Given the description of an element on the screen output the (x, y) to click on. 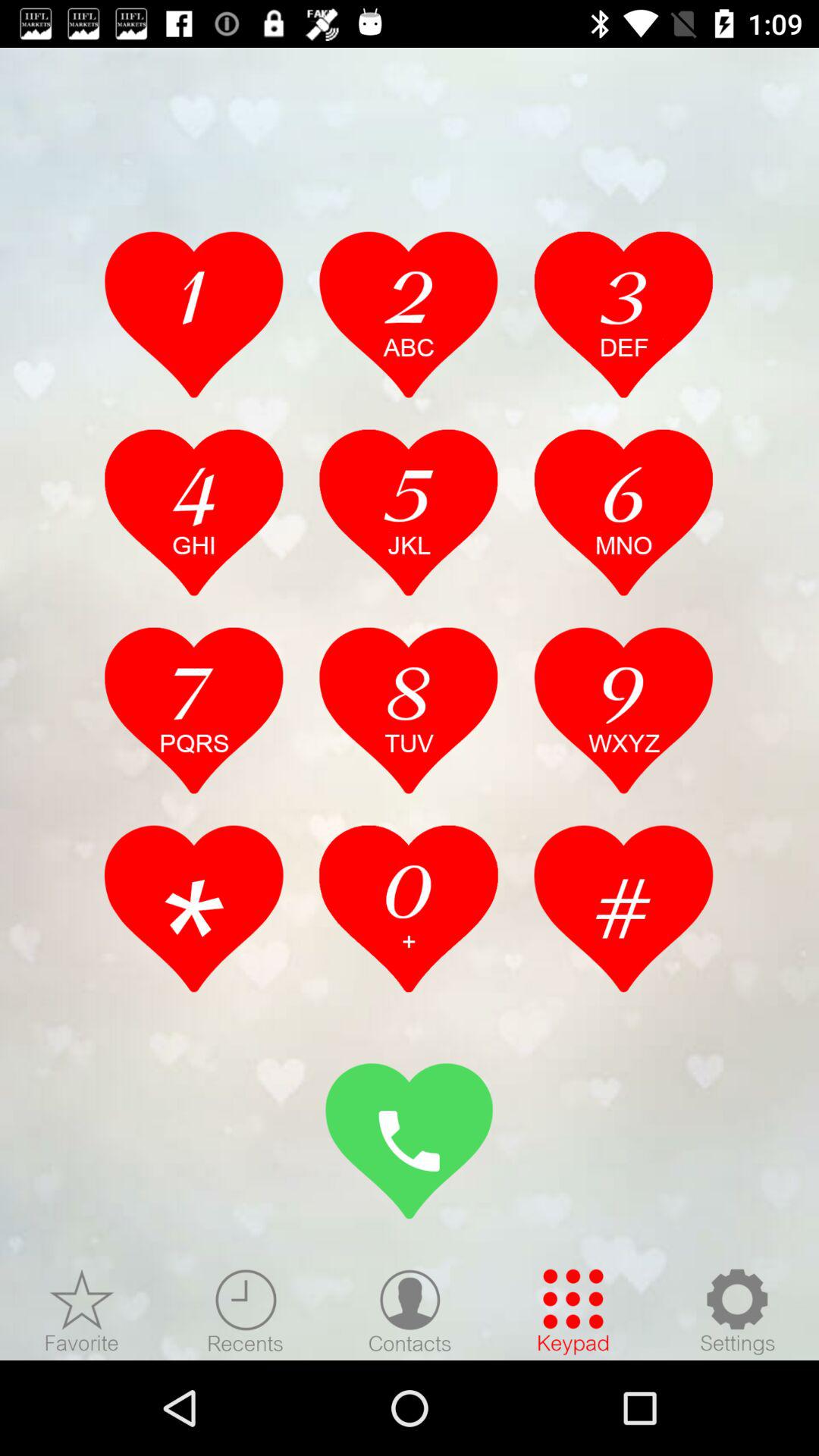
hashtag key select (623, 908)
